Given the description of an element on the screen output the (x, y) to click on. 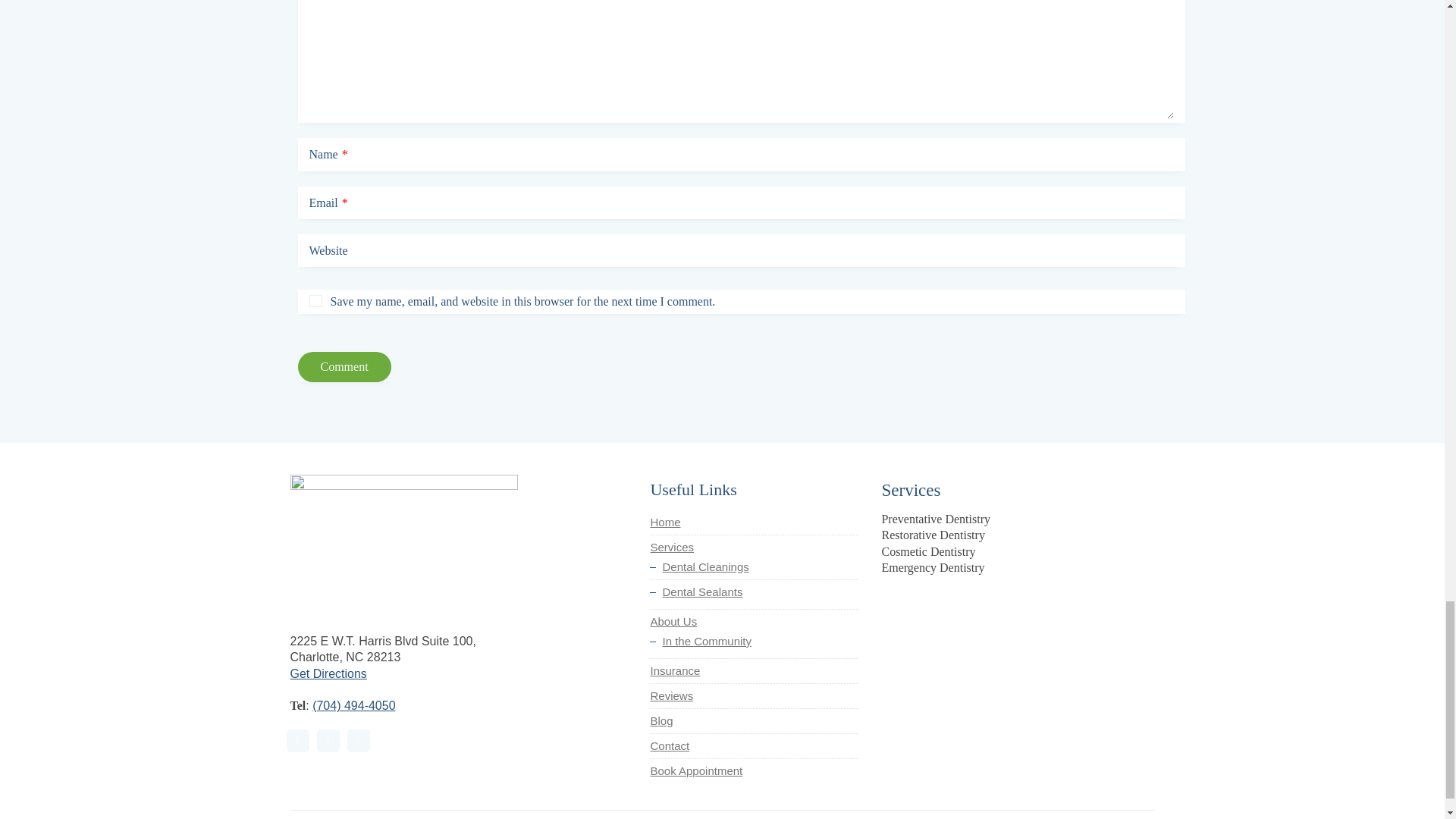
Comment (343, 367)
Facebook (297, 740)
Instagram (328, 740)
Yelp (358, 740)
yes (314, 300)
